Given the description of an element on the screen output the (x, y) to click on. 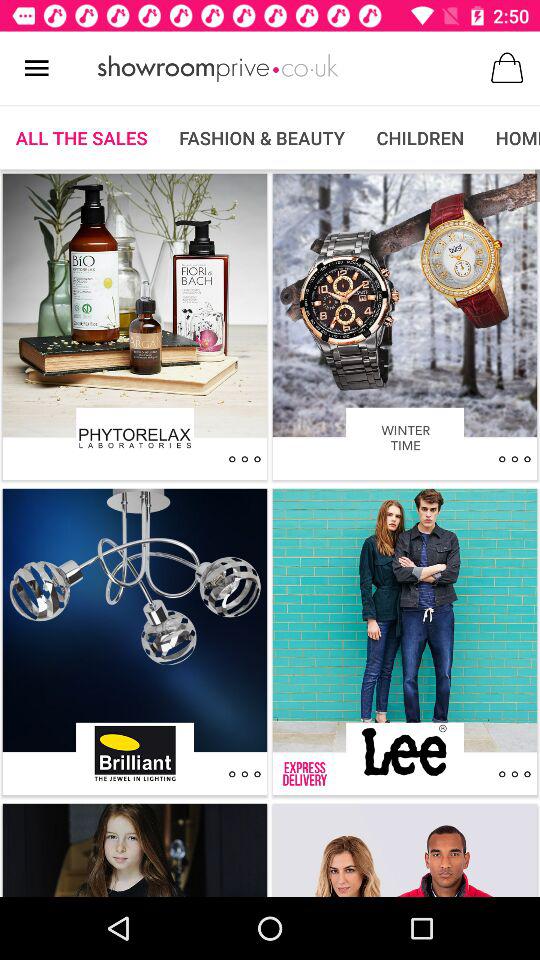
open item (514, 459)
